Given the description of an element on the screen output the (x, y) to click on. 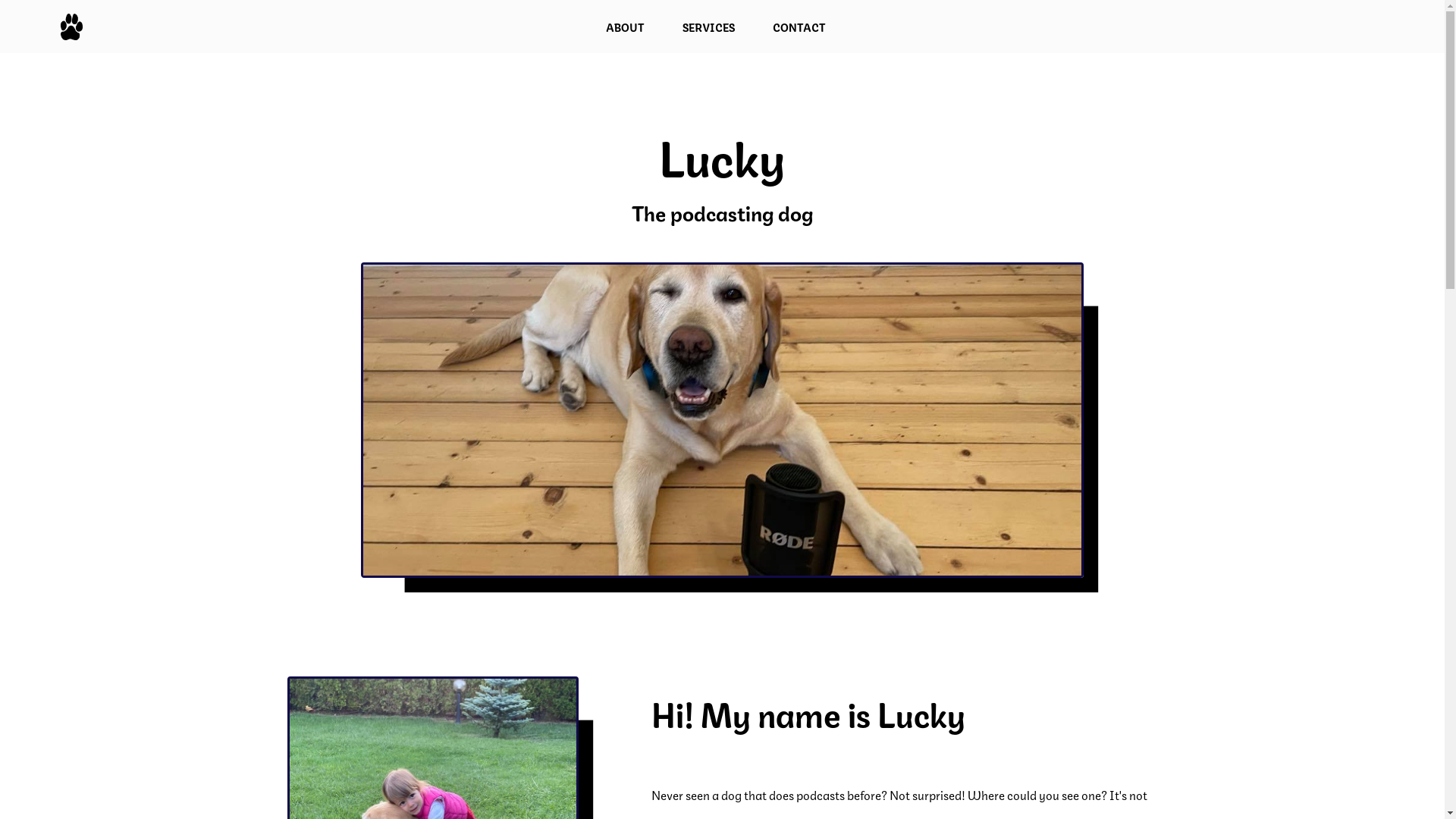
CONTACT Element type: text (798, 26)
ABOUT Element type: text (624, 26)
SERVICES Element type: text (708, 26)
